Given the description of an element on the screen output the (x, y) to click on. 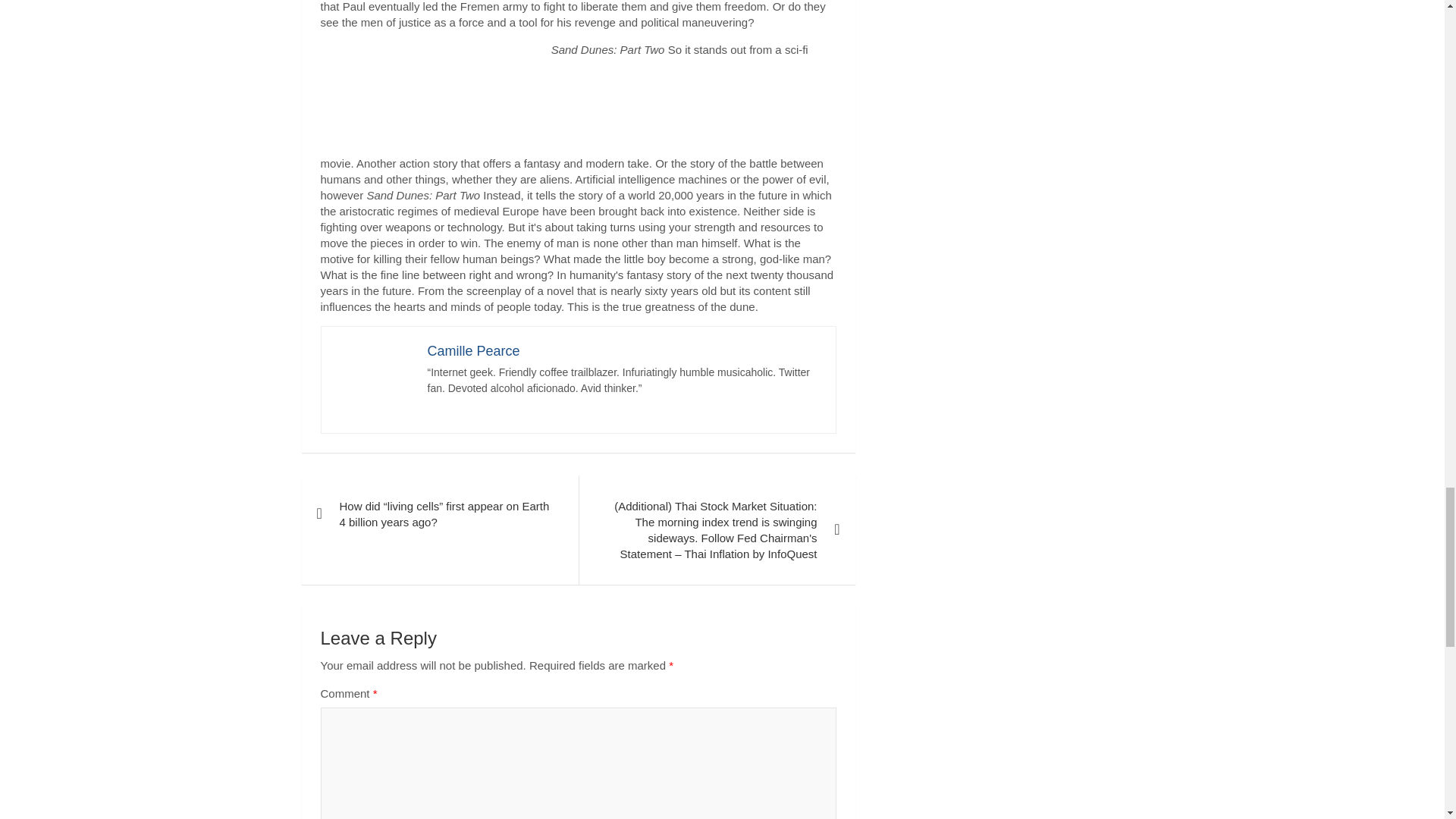
Camille Pearce (473, 350)
